Given the description of an element on the screen output the (x, y) to click on. 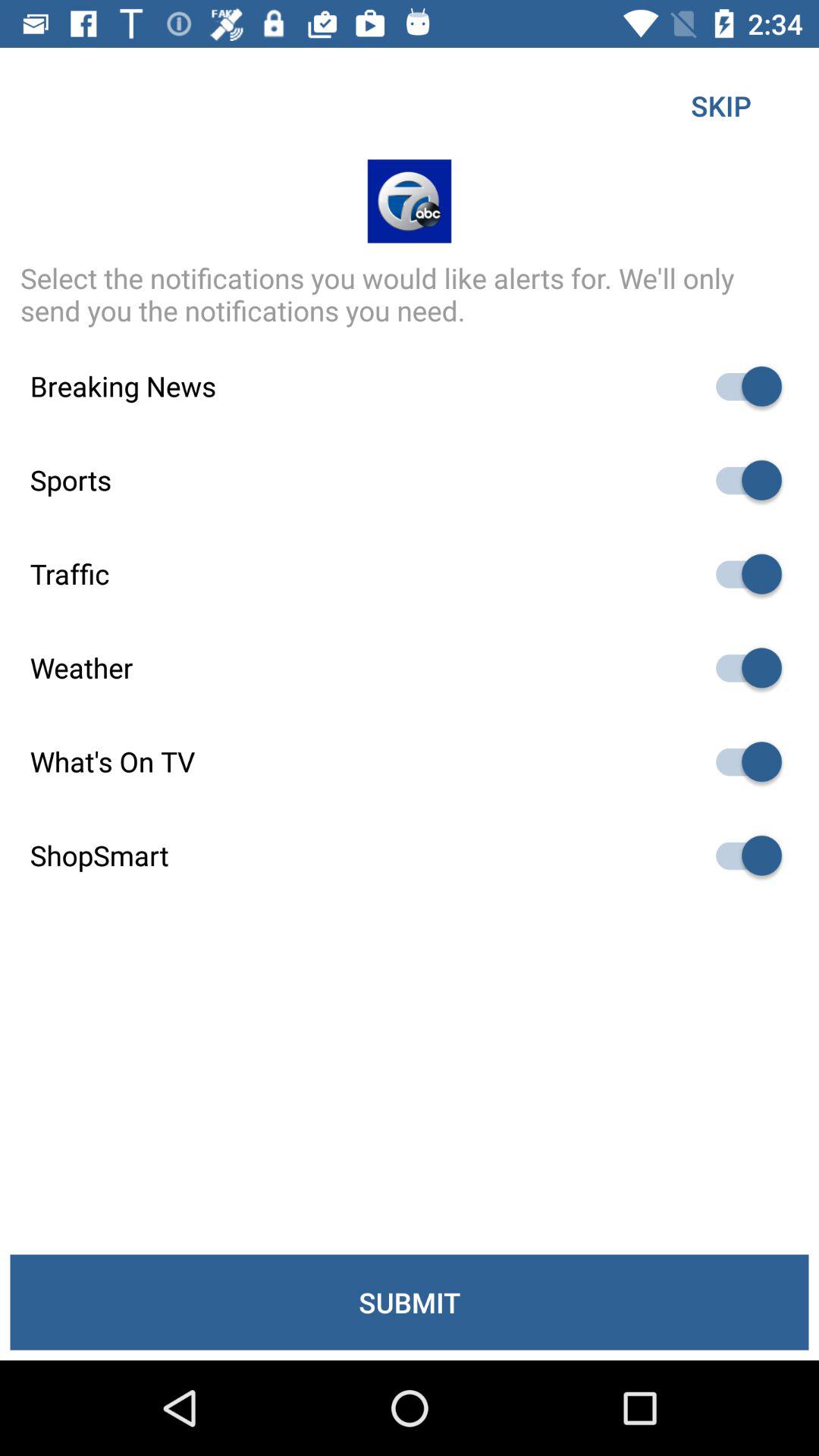
go to favorite (741, 480)
